Given the description of an element on the screen output the (x, y) to click on. 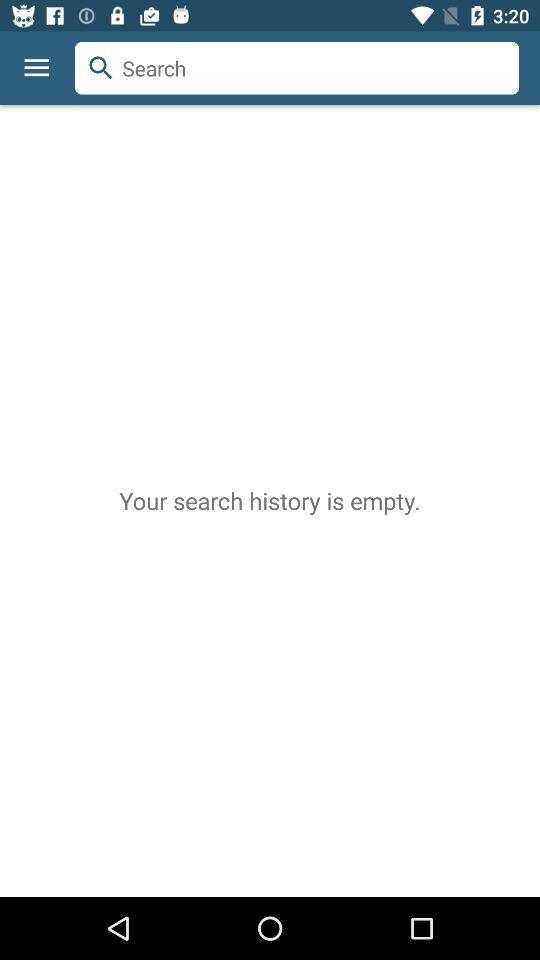
search box (297, 68)
